Given the description of an element on the screen output the (x, y) to click on. 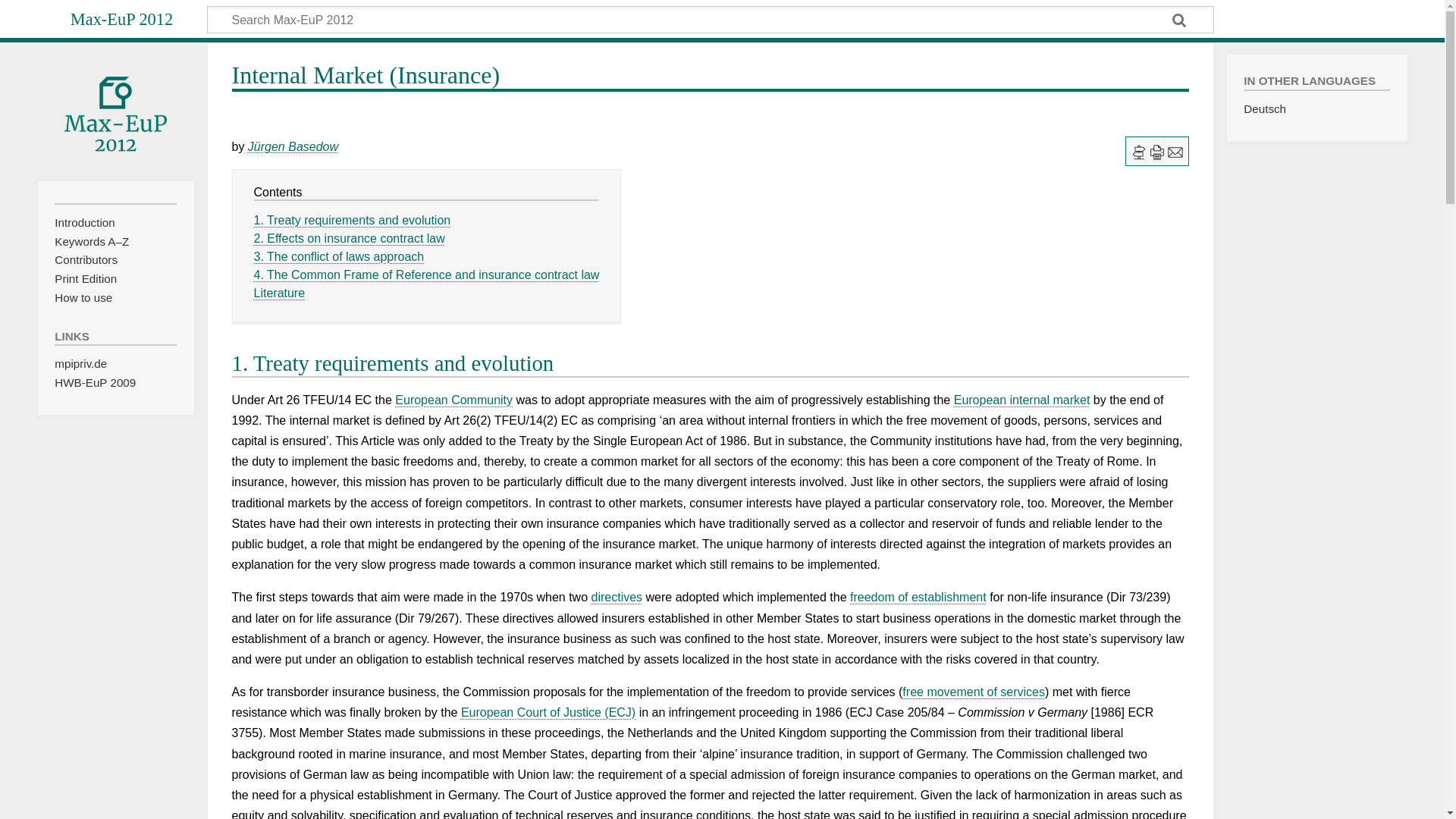
Search the pages for this text (1179, 21)
Mail (1175, 151)
Literature (278, 292)
Go (1179, 21)
Directive (617, 596)
European internal market (1021, 399)
3. The conflict of laws approach (338, 256)
Free Movement of Services (973, 691)
Search (1179, 21)
1. Treaty requirements and evolution (351, 219)
Search (1179, 21)
free movement of services (973, 691)
European Community (453, 399)
European Internal Market (1021, 399)
2. Effects on insurance contract law (348, 237)
